Given the description of an element on the screen output the (x, y) to click on. 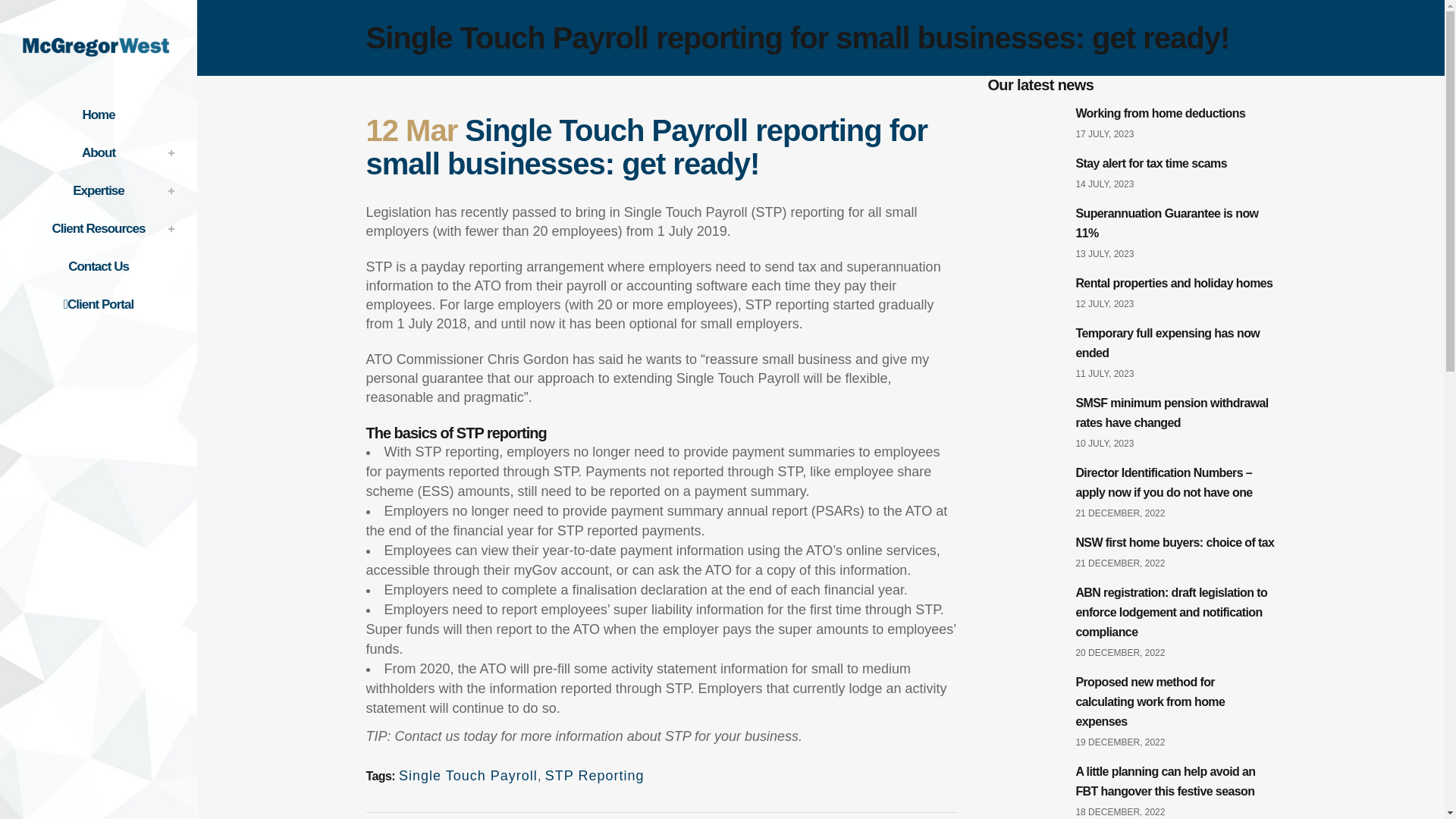
About (98, 152)
Client Resources (98, 228)
Home (98, 115)
Client Portal (98, 304)
Expertise (98, 190)
Contact Us (98, 266)
Single Touch Payroll (467, 775)
